Given the description of an element on the screen output the (x, y) to click on. 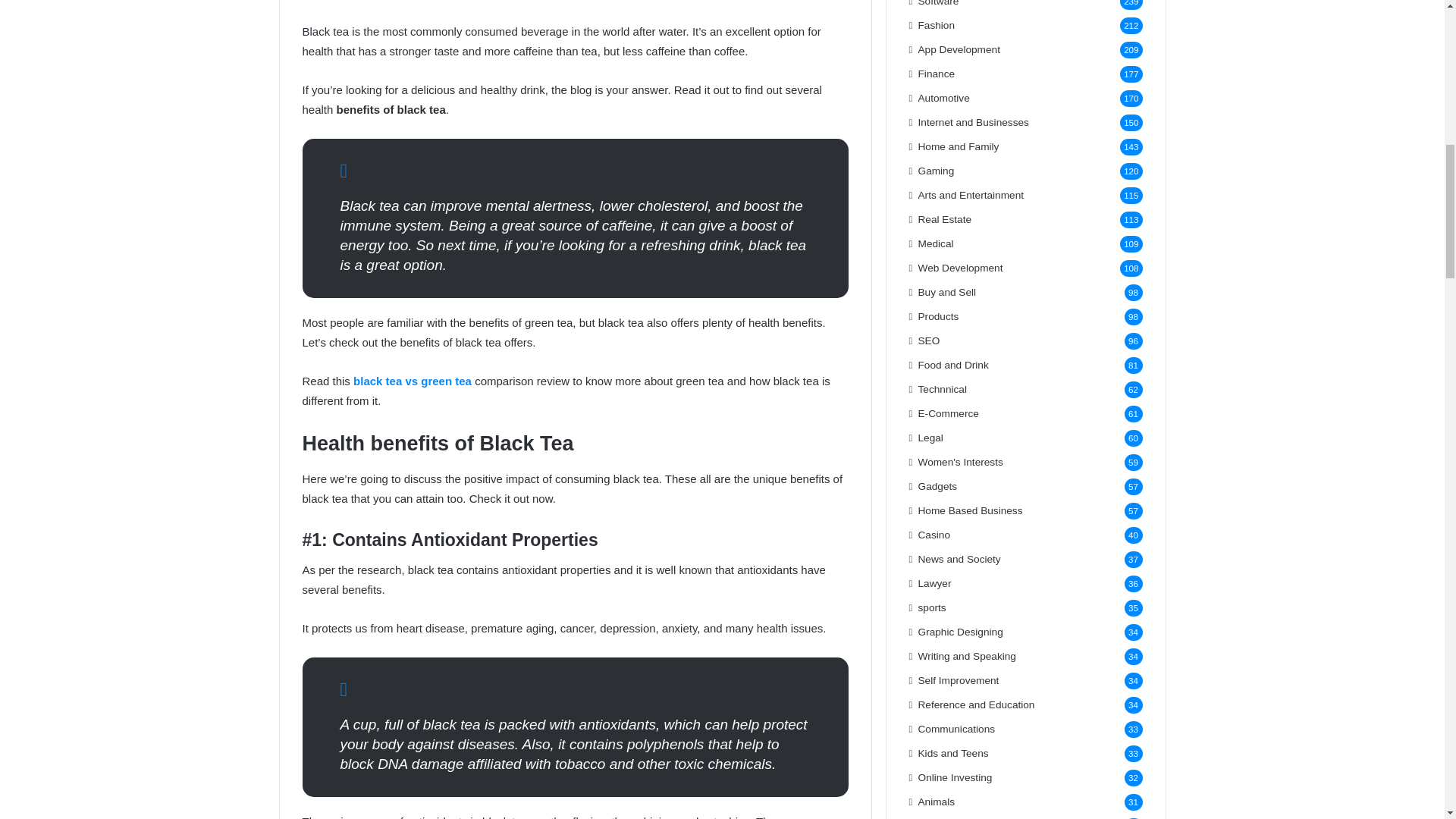
black tea vs green tea (412, 380)
